Given the description of an element on the screen output the (x, y) to click on. 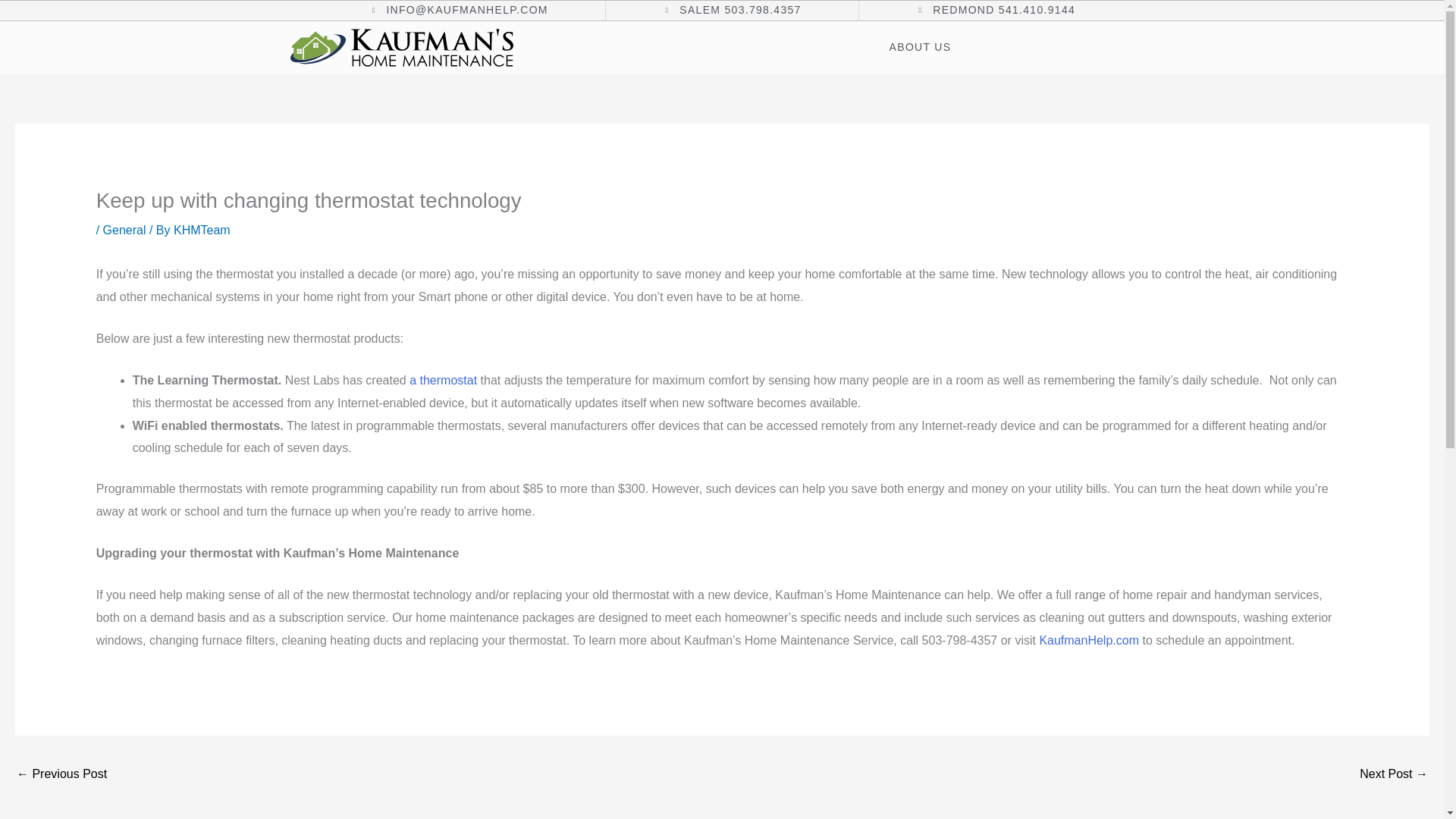
a thermostat (443, 379)
General (125, 229)
Sliding glass doors need adjustment (1393, 775)
KaufmanHelp.com (1088, 640)
KHMTeam (201, 229)
REDMOND 541.410.9144 (995, 10)
Look under your home to improve your air quality (61, 775)
SALEM 503.798.4357 (732, 10)
ABOUT US (920, 47)
View all posts by KHMTeam (201, 229)
